Given the description of an element on the screen output the (x, y) to click on. 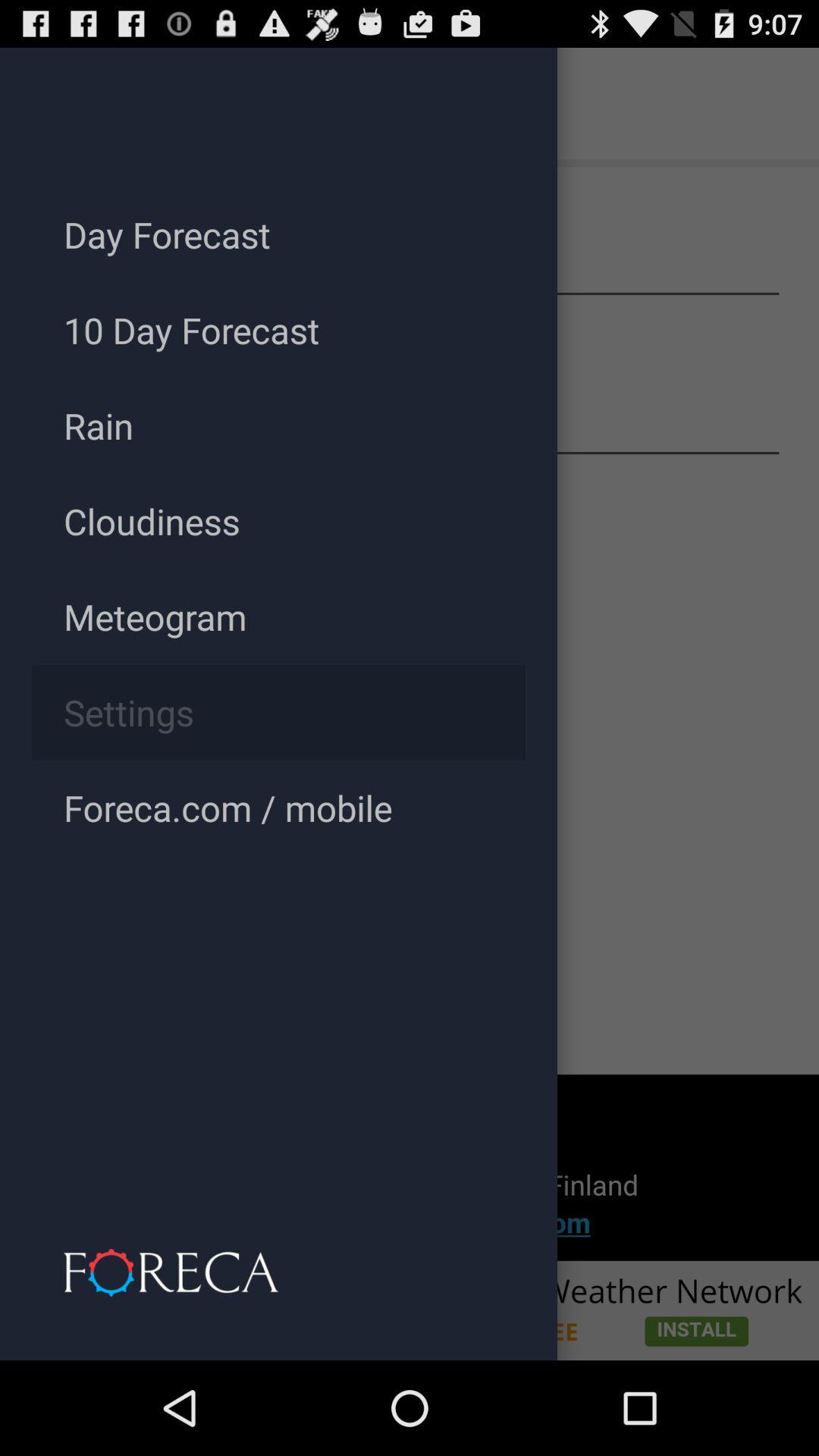
go to option above cloudiness (409, 425)
